Given the description of an element on the screen output the (x, y) to click on. 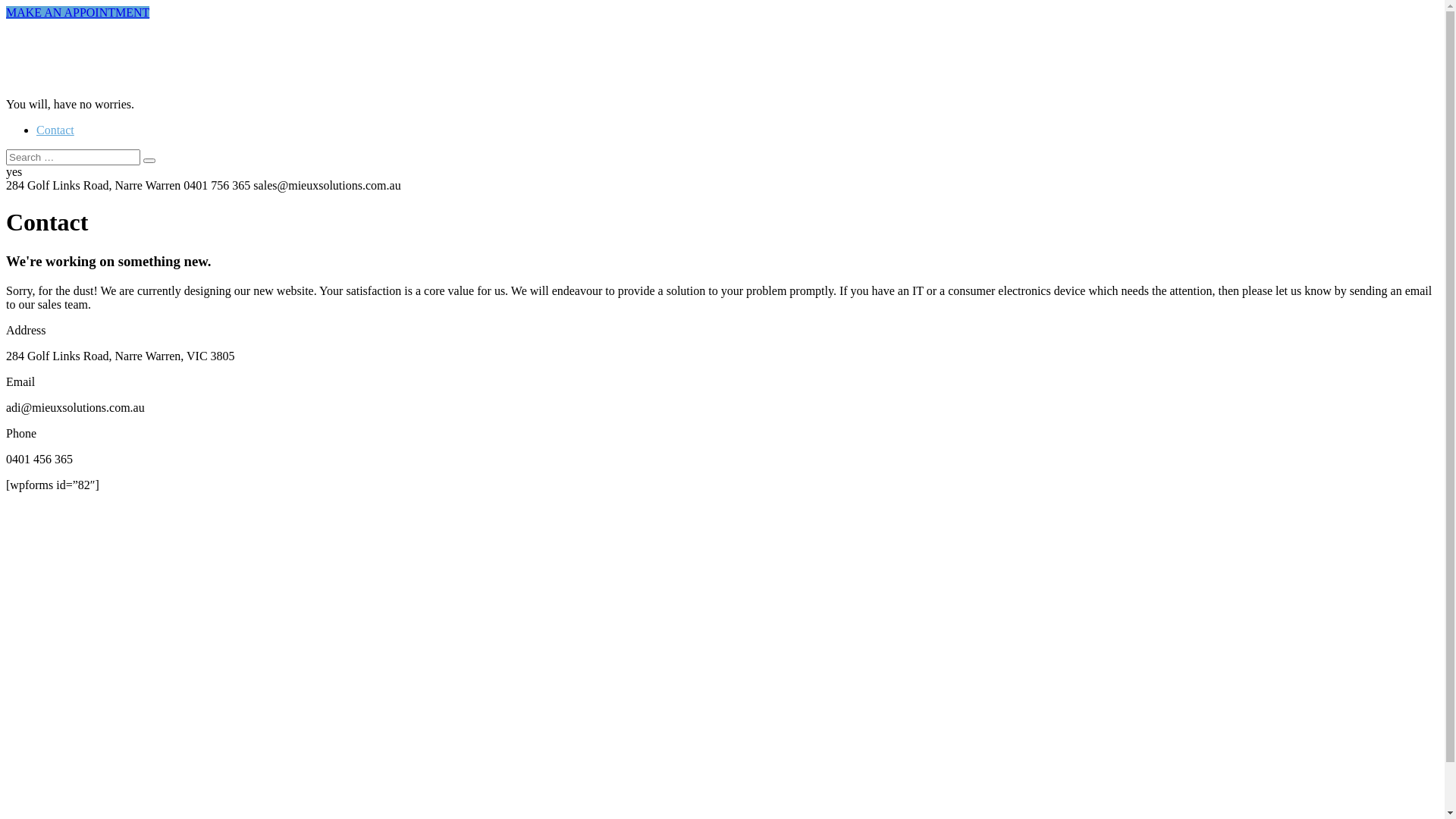
MAKE AN APPOINTMENT Element type: text (77, 12)
Contact Element type: text (55, 129)
